Given the description of an element on the screen output the (x, y) to click on. 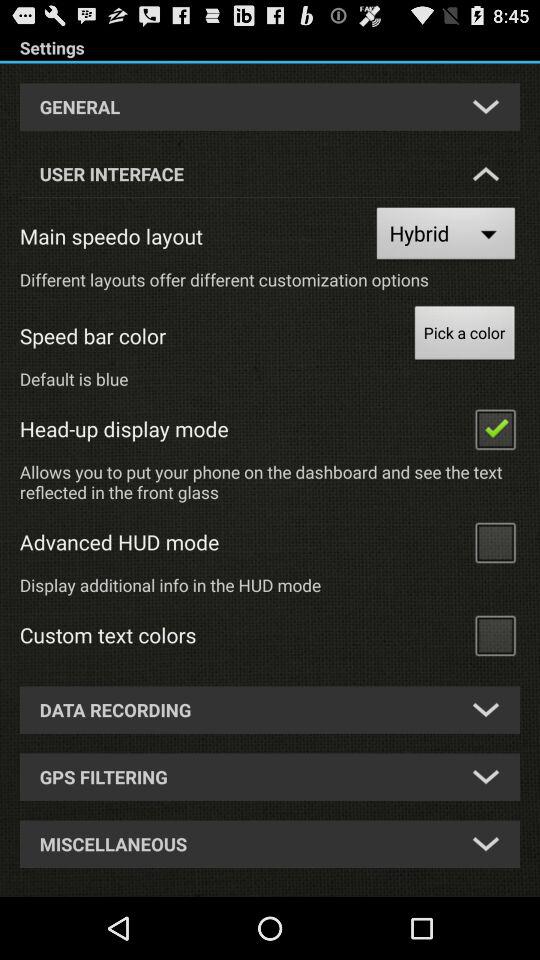
select more info (495, 541)
